Given the description of an element on the screen output the (x, y) to click on. 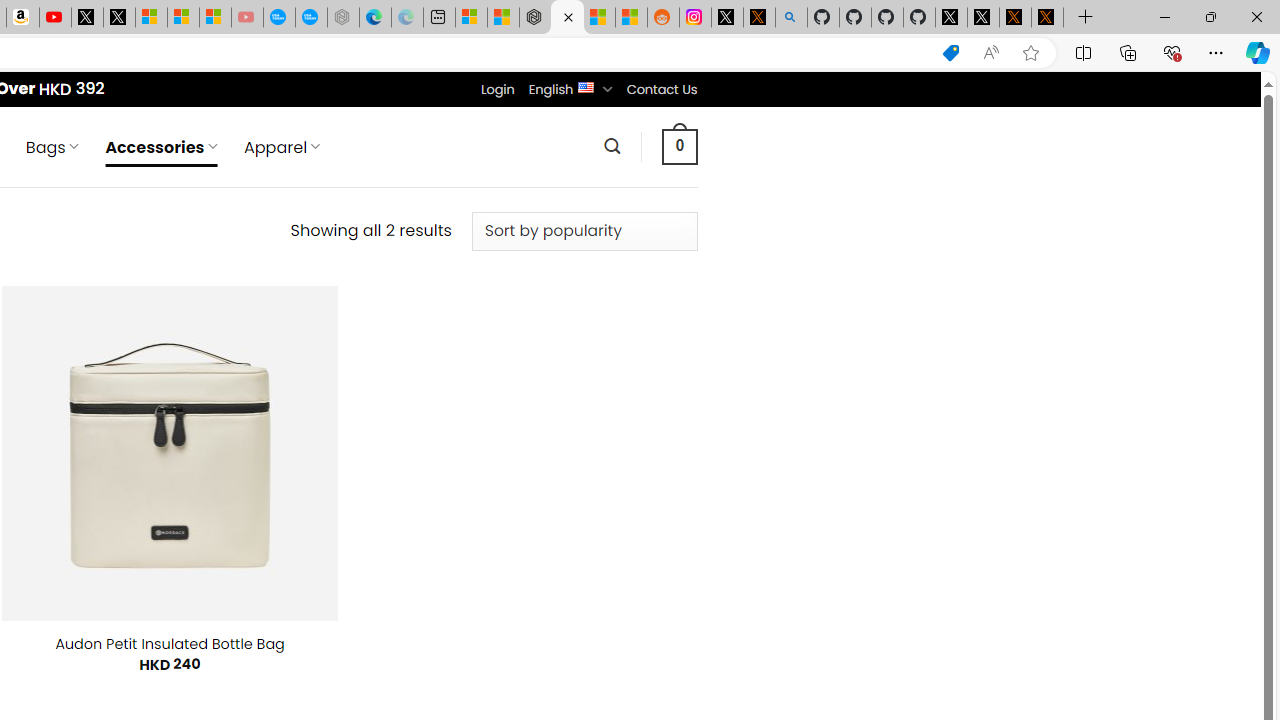
 0  (679, 146)
Day 1: Arriving in Yemen (surreal to be here) - YouTube (54, 17)
  0   (679, 146)
Shanghai, China Weather trends | Microsoft Weather (630, 17)
Nordace - Nordace has arrived Hong Kong - Sleeping (343, 17)
Opinion: Op-Ed and Commentary - USA TODAY (279, 17)
